Given the description of an element on the screen output the (x, y) to click on. 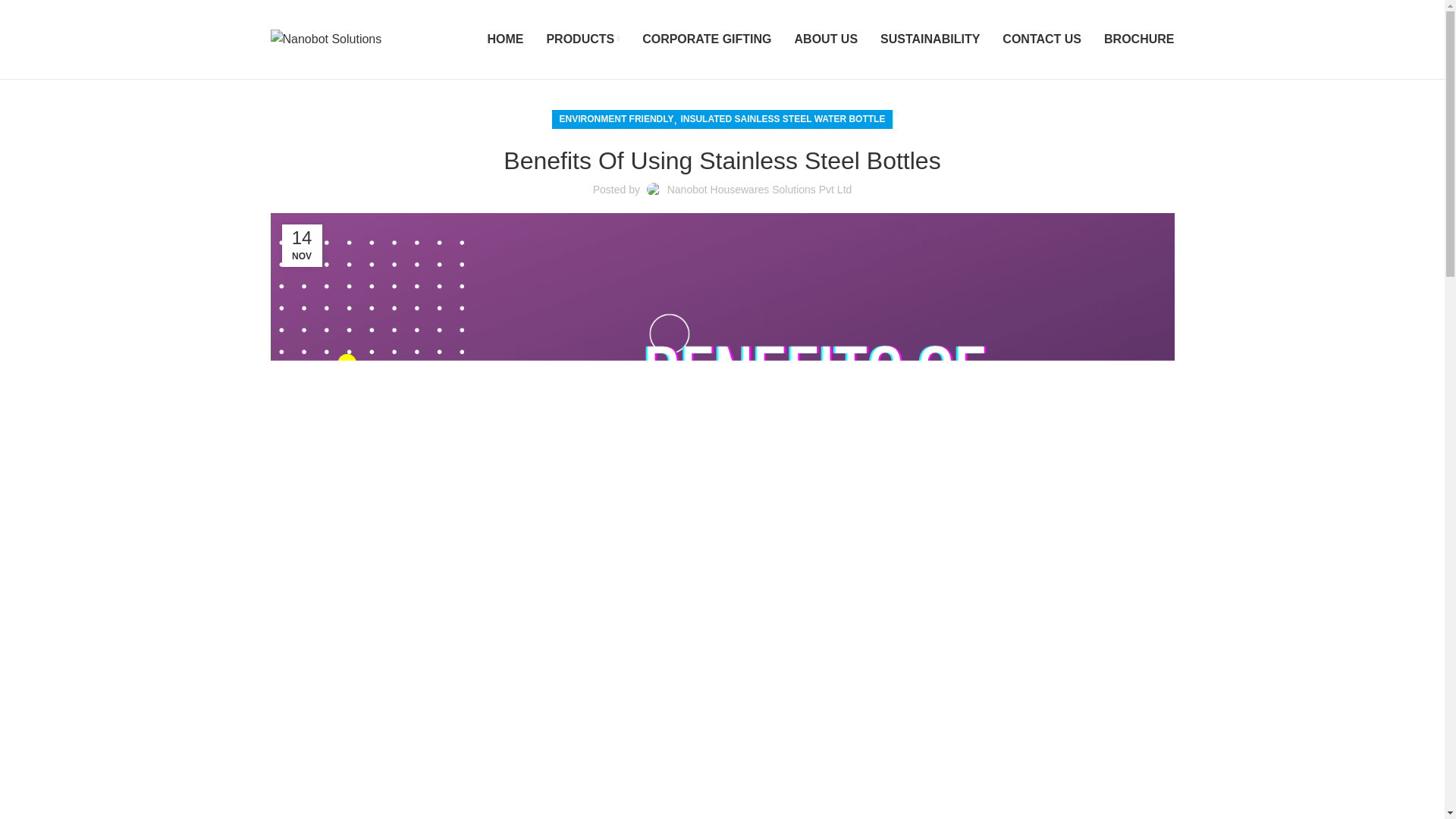
CONTACT US (1042, 39)
BROCHURE (1138, 39)
Nanobot Housewares Solutions Pvt Ltd (758, 189)
ENVIRONMENT FRIENDLY (616, 118)
CORPORATE GIFTING (706, 39)
HOME (504, 39)
PRODUCTS (583, 39)
SUSTAINABILITY (929, 39)
INSULATED SAINLESS STEEL WATER BOTTLE (782, 118)
ABOUT US (826, 39)
